Given the description of an element on the screen output the (x, y) to click on. 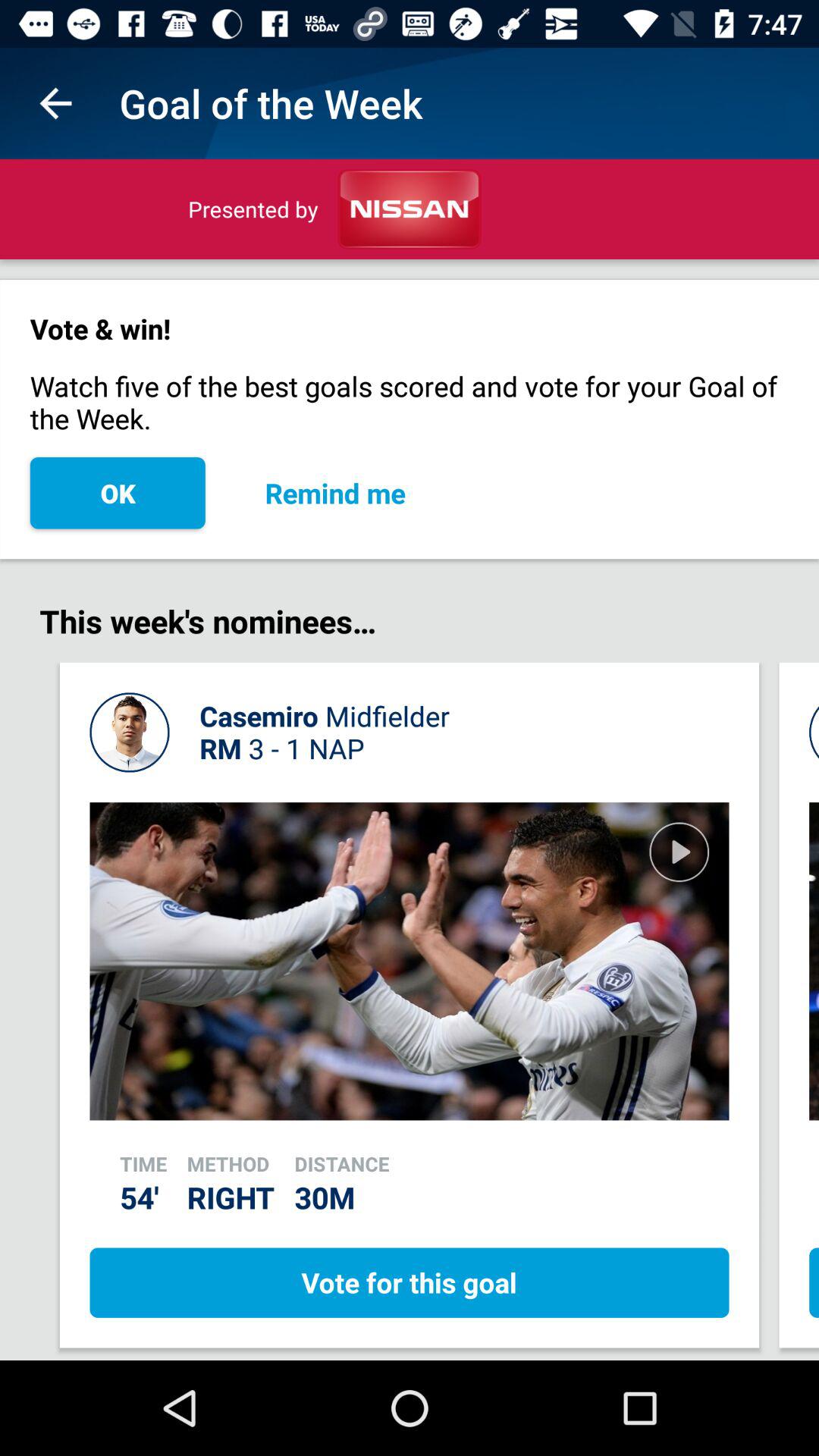
select the app next to the goal of the icon (55, 103)
